Given the description of an element on the screen output the (x, y) to click on. 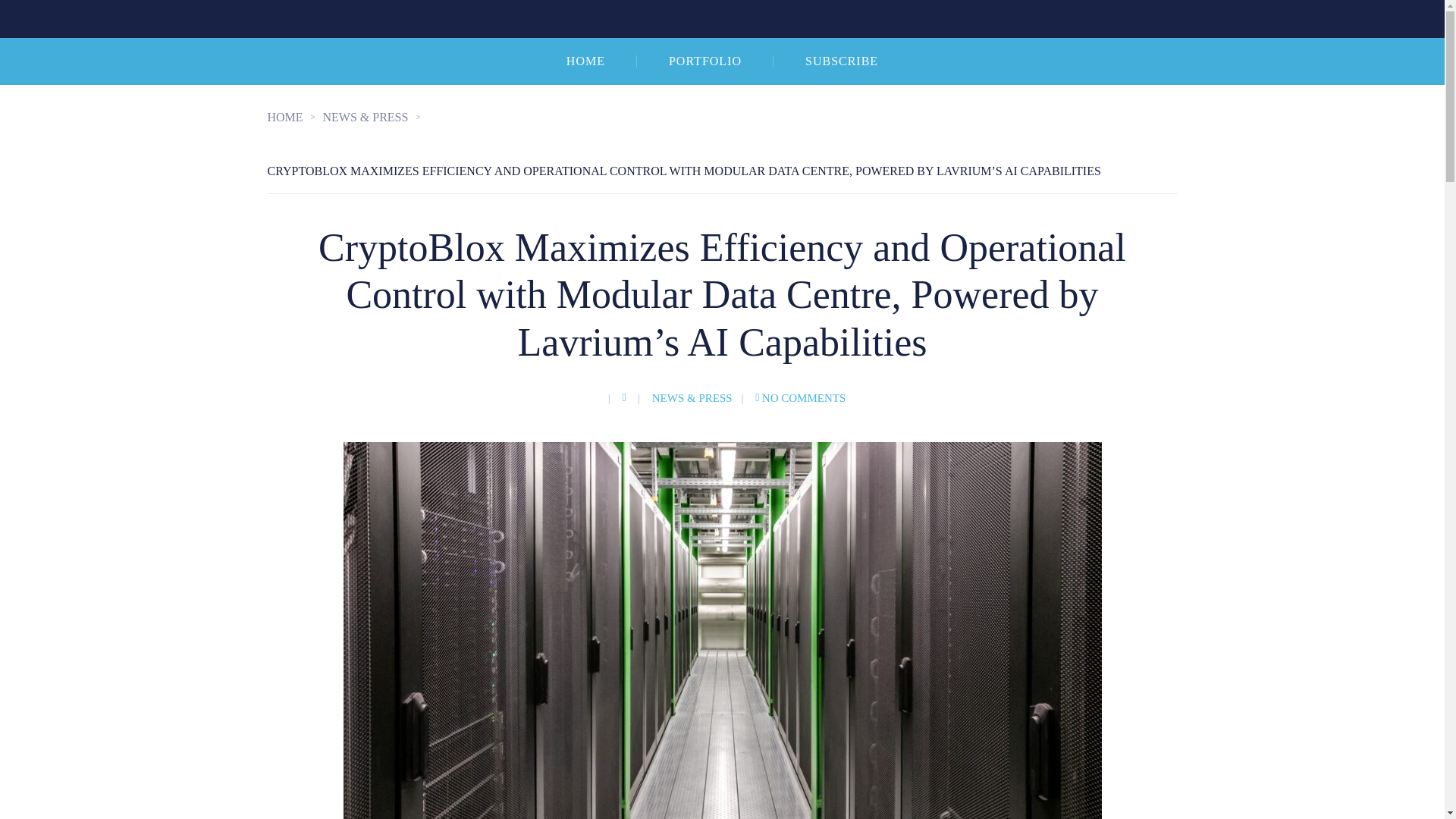
HOME (293, 116)
SUBSCRIBE (841, 61)
PORTFOLIO (705, 61)
HOME (585, 61)
NO COMMENTS (800, 398)
